Given the description of an element on the screen output the (x, y) to click on. 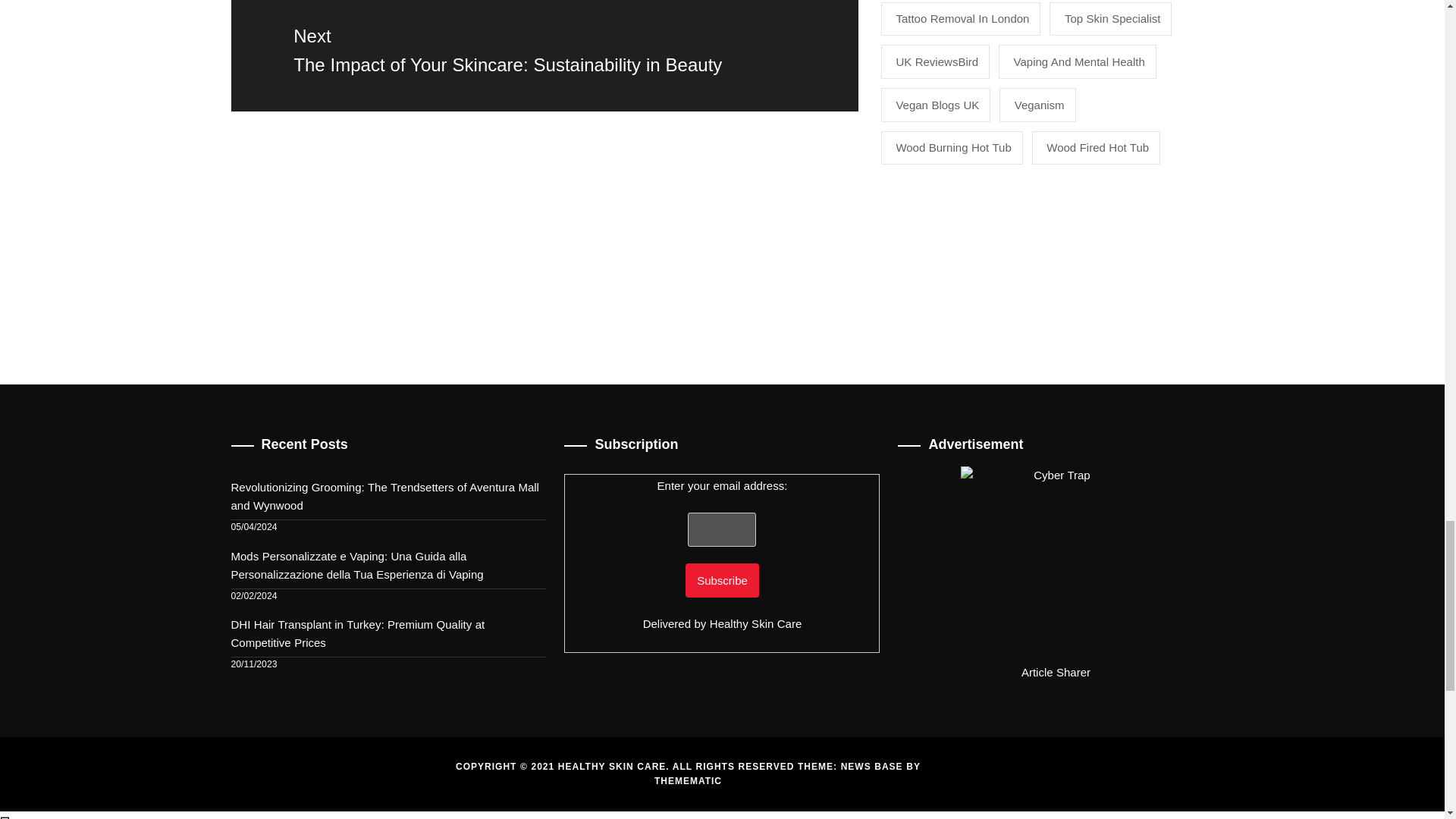
Cyber Trap (1055, 561)
Subscribe (721, 580)
